Given the description of an element on the screen output the (x, y) to click on. 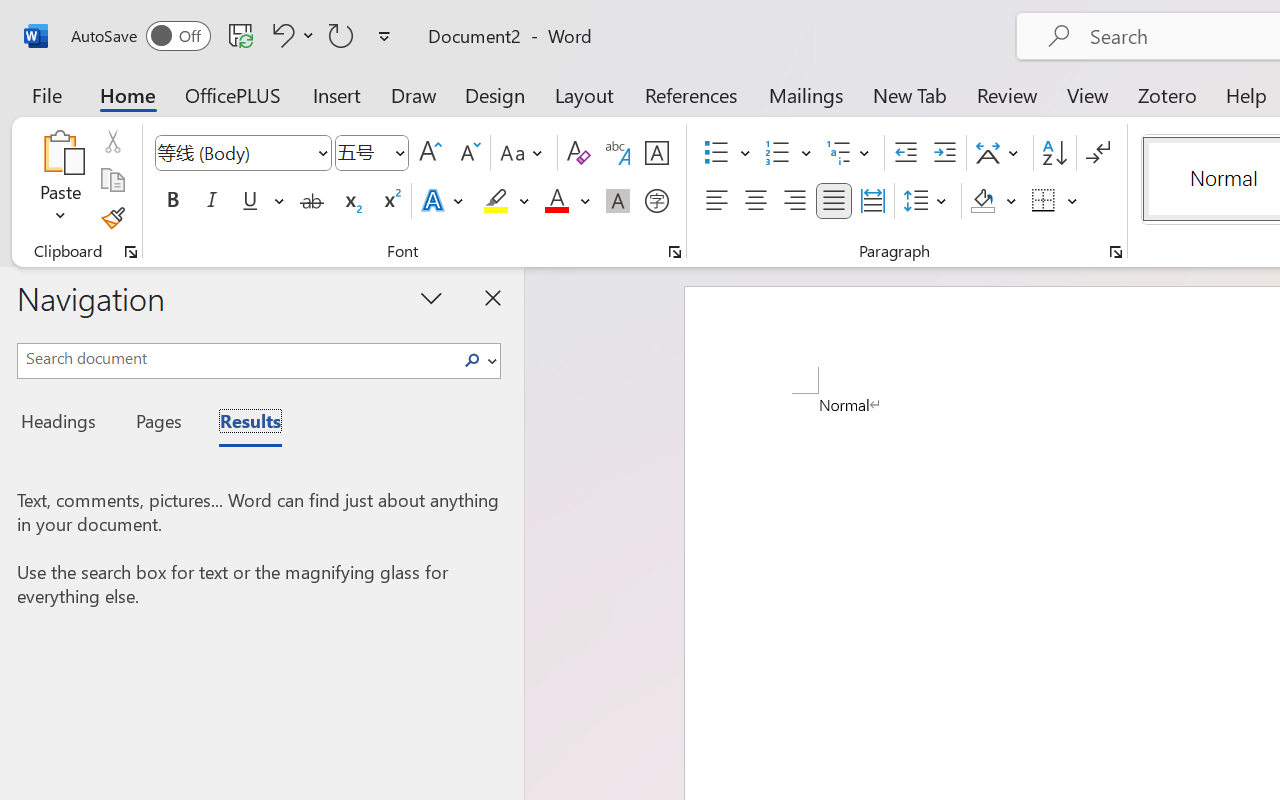
Customize Quick Access Toolbar (384, 35)
More Options (1073, 201)
Draw (413, 94)
Pages (156, 424)
Open (399, 152)
Distributed (872, 201)
Numbering (788, 153)
Line and Paragraph Spacing (927, 201)
Zotero (1166, 94)
Paragraph... (1115, 252)
Sort... (1054, 153)
Center (756, 201)
Font Color Red (556, 201)
